Given the description of an element on the screen output the (x, y) to click on. 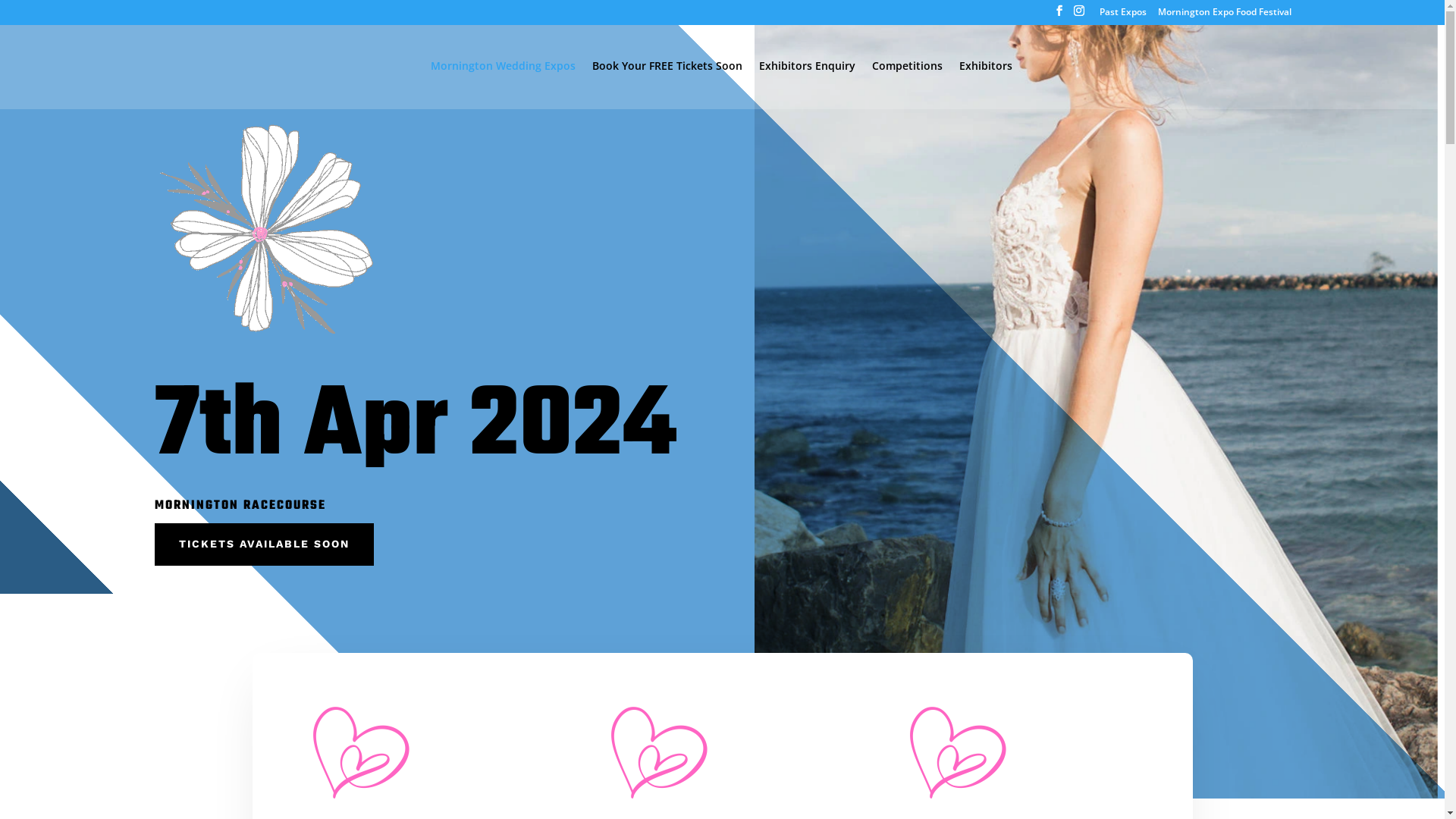
Book Your FREE Tickets Soon Element type: text (667, 84)
Exhibitors Element type: text (985, 84)
TICKETS AVAILABLE SOON Element type: text (263, 544)
Mornington Wedding Expos Element type: text (502, 84)
Past Expos Element type: text (1122, 15)
Exhibitors Enquiry Element type: text (807, 84)
Mornington Expo Food Festival Element type: text (1223, 15)
Flower-trans-294x300b Element type: hover (265, 230)
Competitions Element type: text (907, 84)
